Given the description of an element on the screen output the (x, y) to click on. 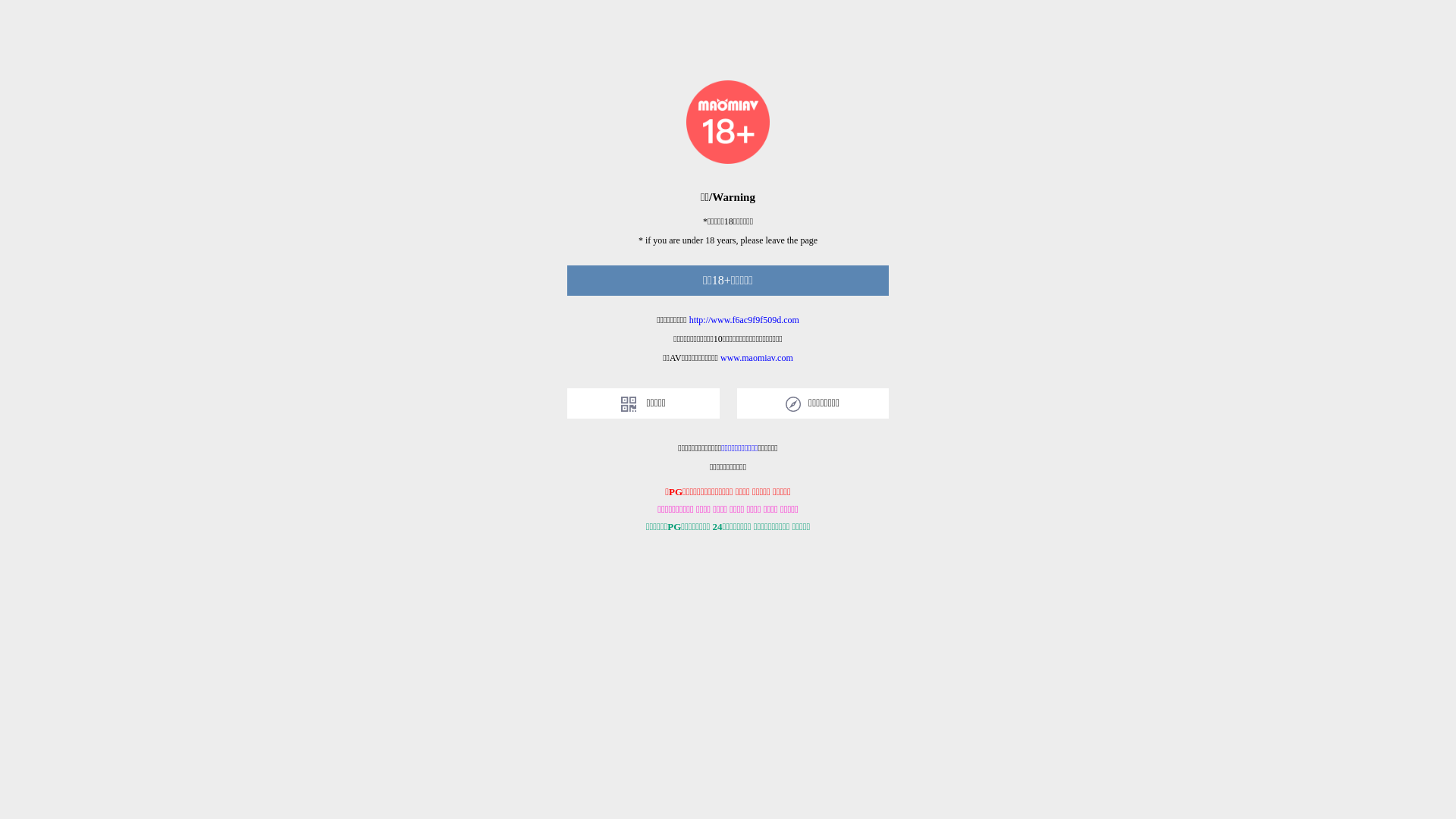
www.maomiav.com Element type: text (756, 357)
http://www.f6ac9f9f509d.com Element type: text (744, 319)
